Given the description of an element on the screen output the (x, y) to click on. 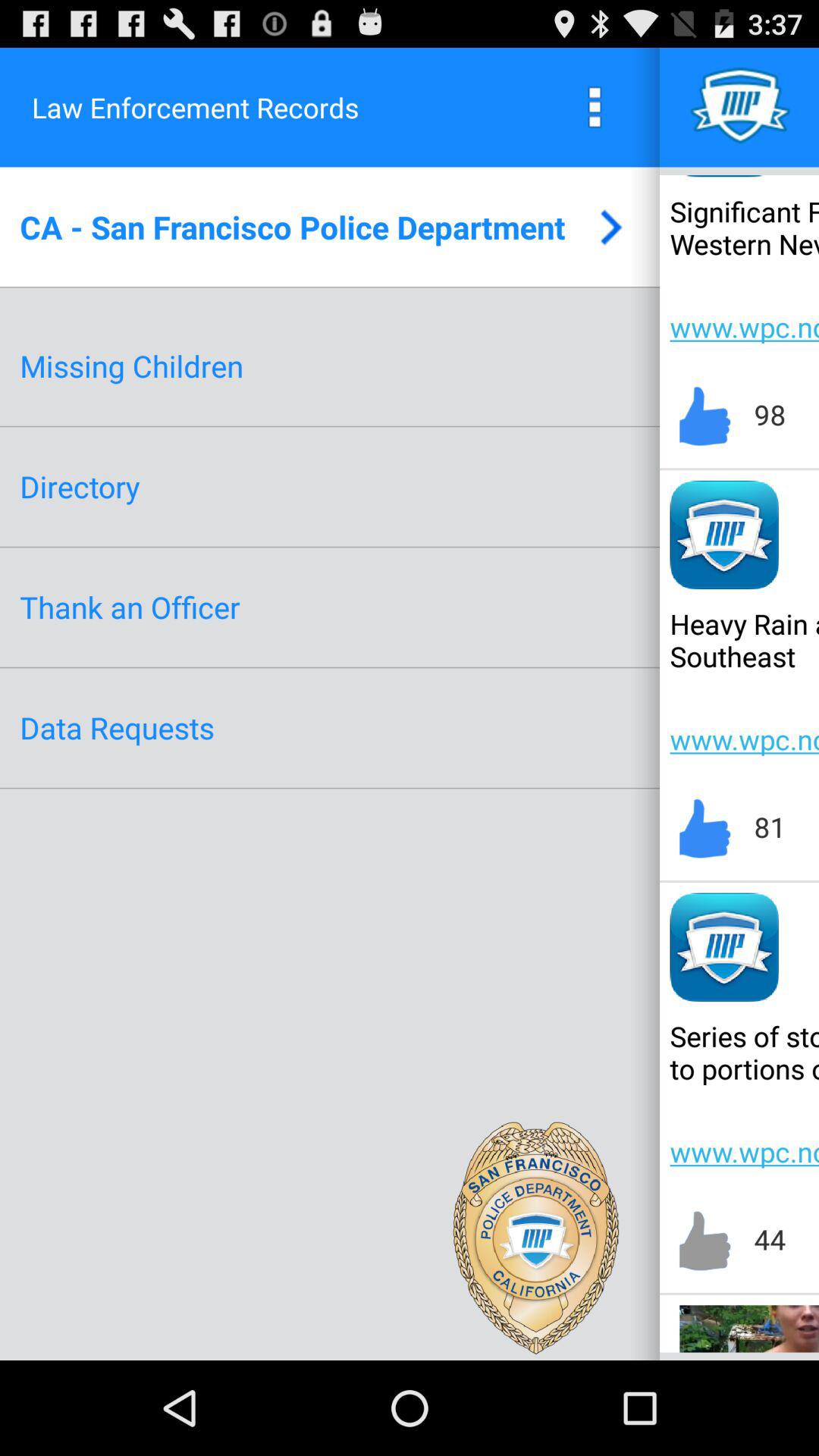
tap the icon above thank an officer icon (79, 486)
